Given the description of an element on the screen output the (x, y) to click on. 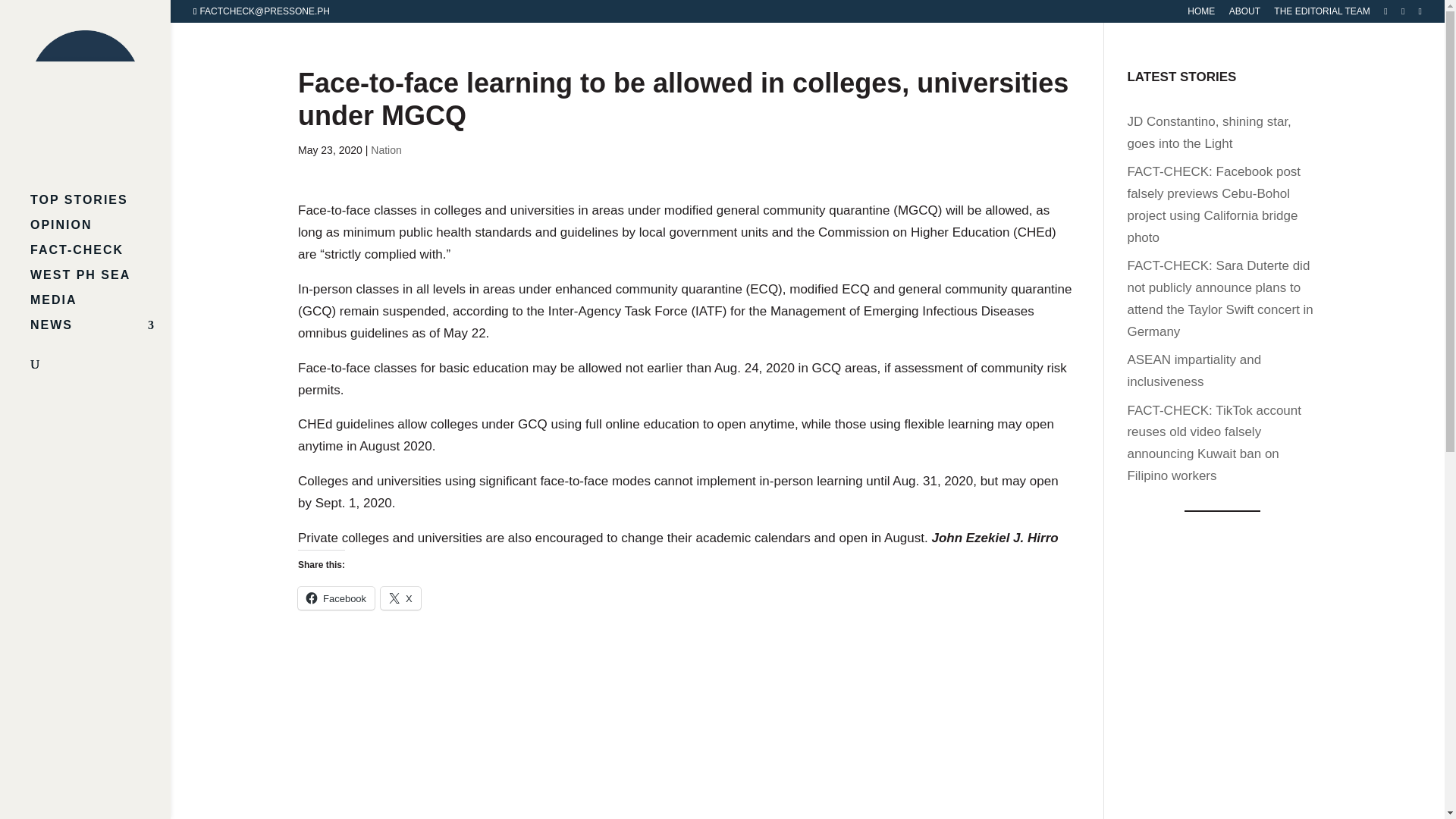
FACT-CHECK (100, 257)
NEWS (100, 332)
HOME (1201, 14)
Click to share on X (400, 598)
OPINION (100, 232)
TOP STORIES (100, 207)
WEST PH SEA (100, 282)
MEDIA (100, 307)
THE EDITORIAL TEAM (1322, 14)
ABOUT (1244, 14)
